Given the description of an element on the screen output the (x, y) to click on. 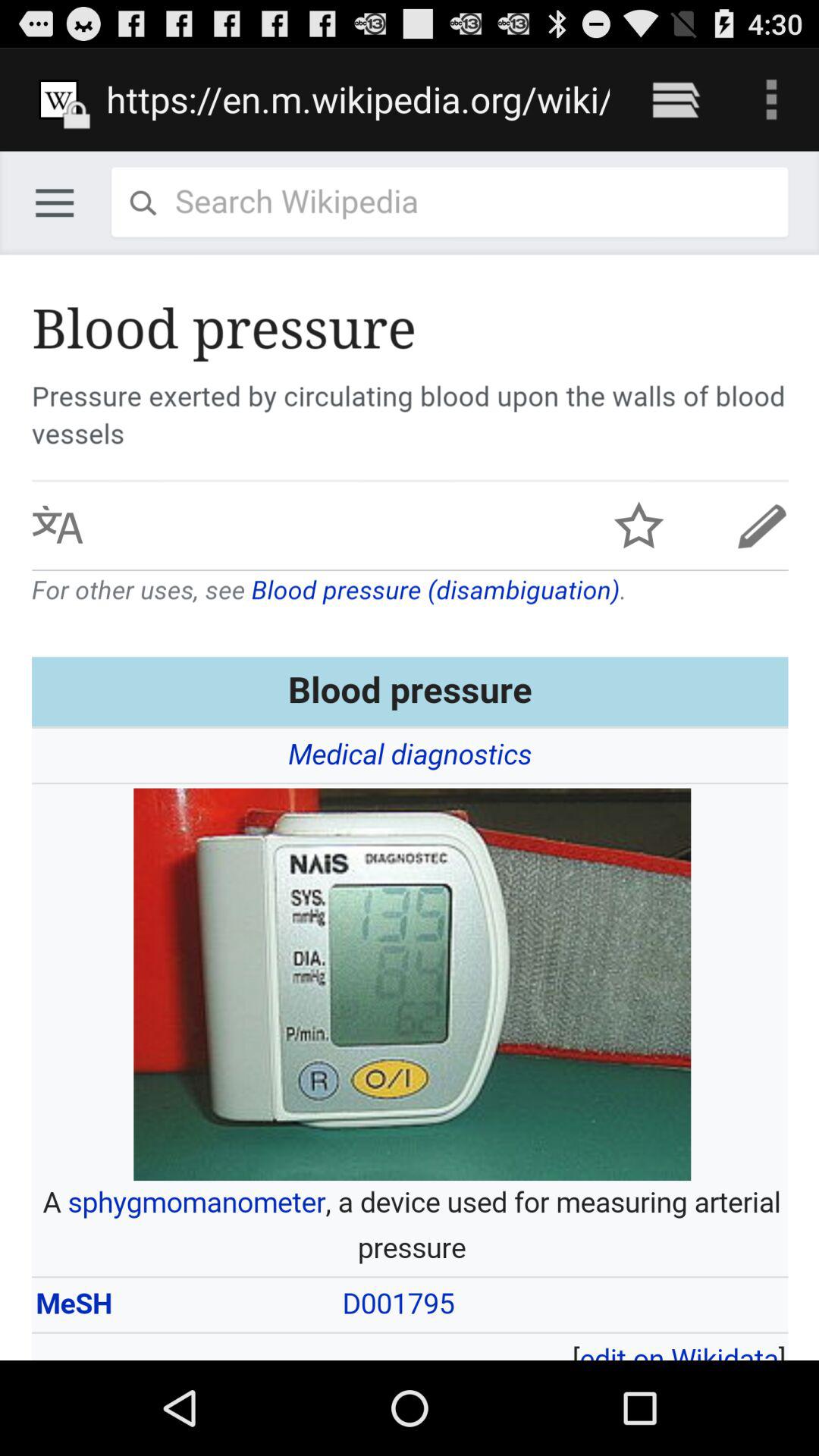
select item at the center (409, 755)
